Given the description of an element on the screen output the (x, y) to click on. 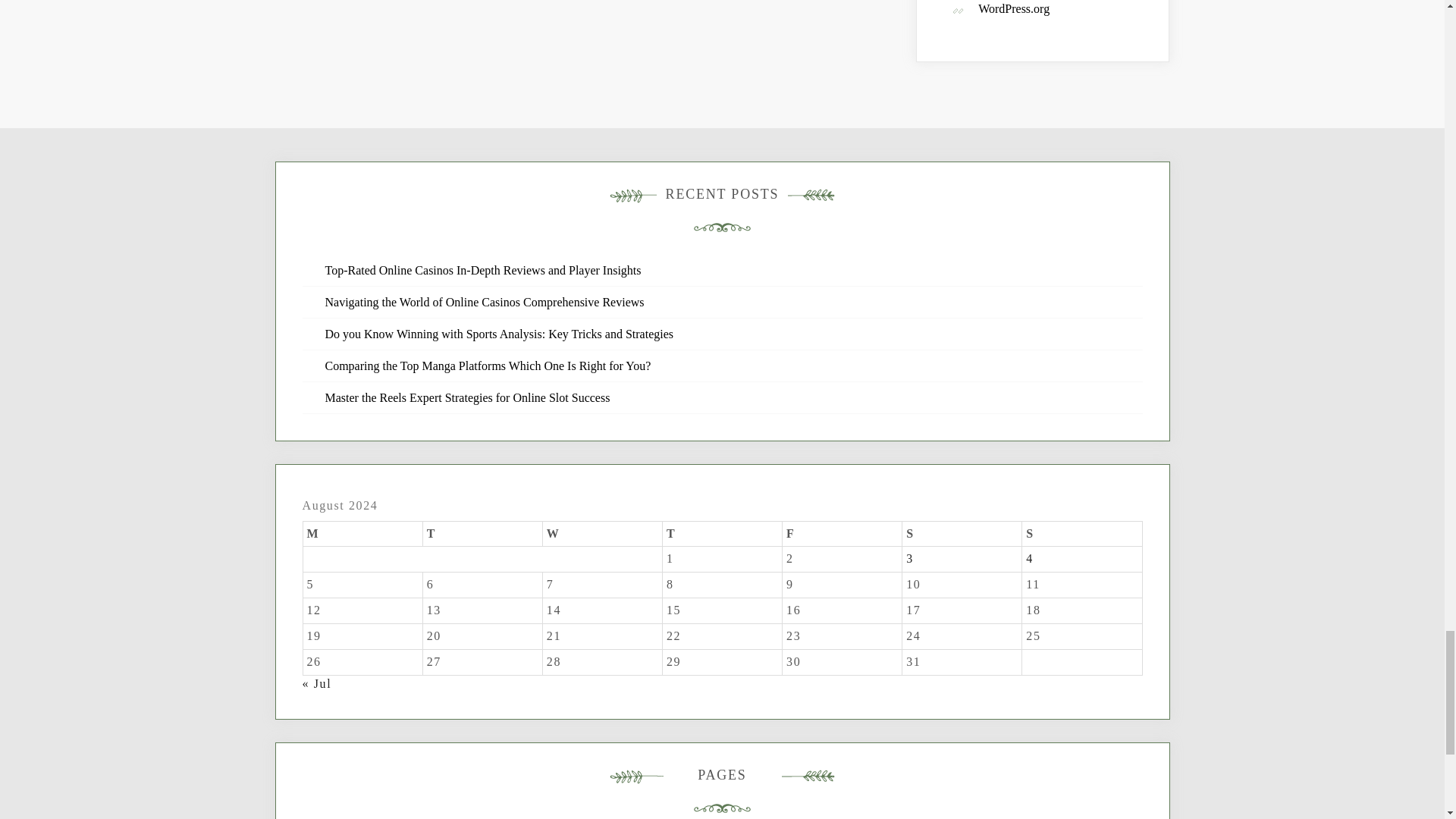
Friday (842, 533)
Monday (362, 533)
Thursday (721, 533)
Sunday (1081, 533)
Tuesday (481, 533)
Saturday (962, 533)
Wednesday (601, 533)
